Given the description of an element on the screen output the (x, y) to click on. 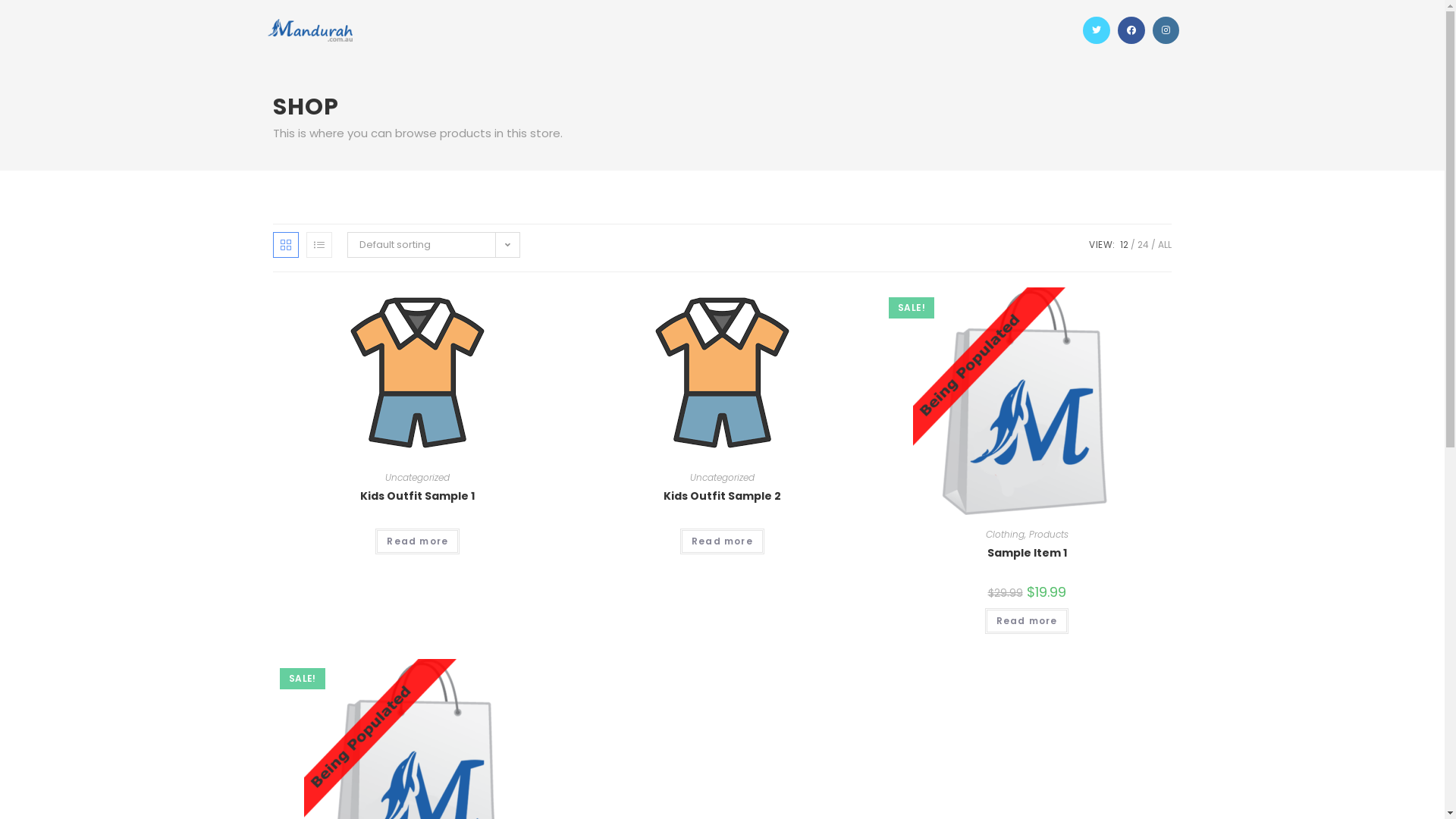
Uncategorized Element type: text (722, 476)
12 Element type: text (1124, 244)
Read more Element type: text (1027, 620)
Kids Outfit Sample 2 Element type: text (722, 496)
Read more Element type: text (722, 541)
Uncategorized Element type: text (417, 476)
Grid view Element type: hover (285, 244)
ALL Element type: text (1164, 244)
24 Element type: text (1142, 244)
Read more Element type: text (417, 541)
Clothing Element type: text (1004, 533)
Products Element type: text (1048, 533)
Kids Outfit Sample 1 Element type: text (417, 496)
Sample Item 1 Element type: text (1026, 553)
List view Element type: hover (319, 244)
